Given the description of an element on the screen output the (x, y) to click on. 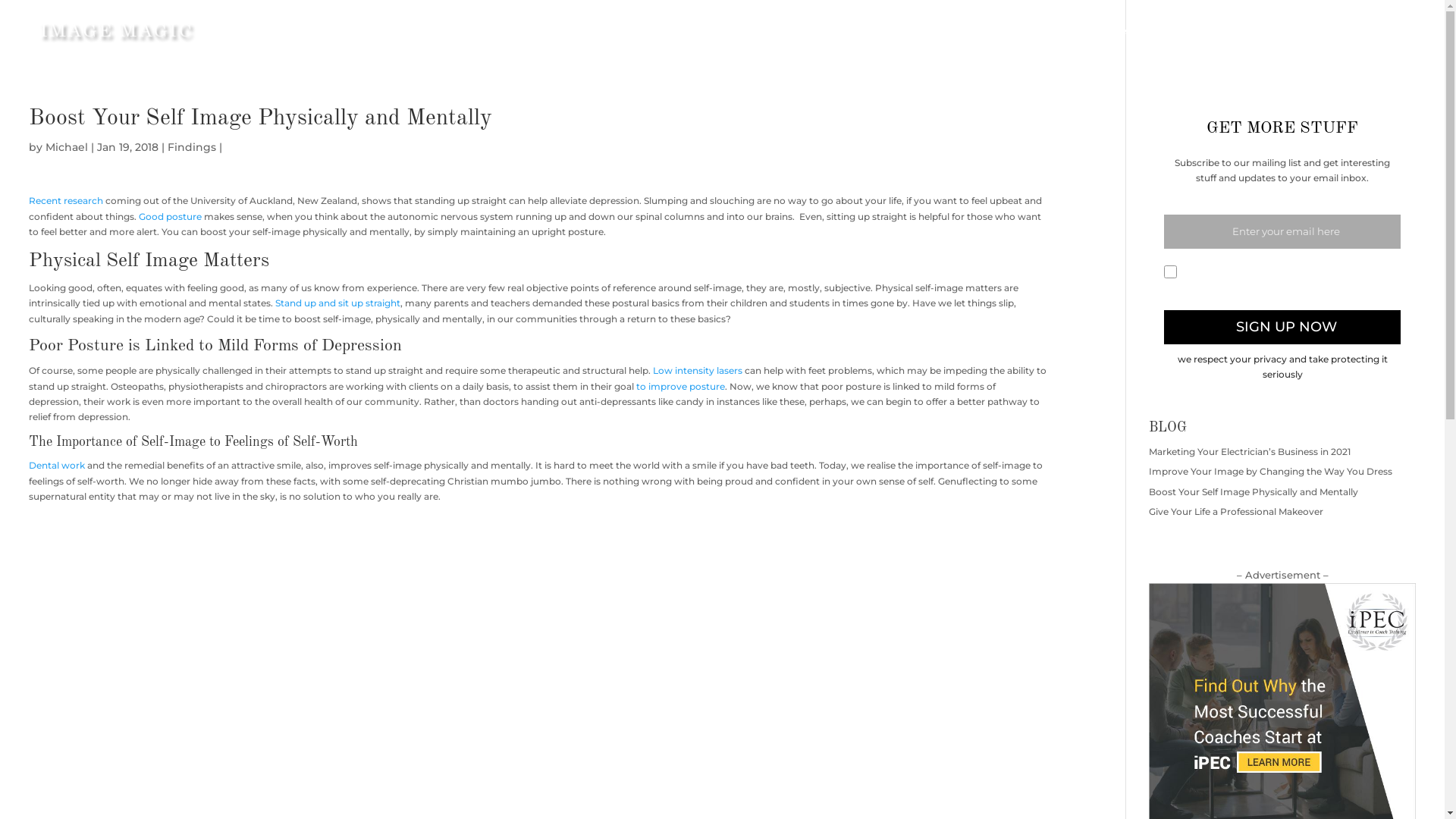
Home Element type: text (1030, 42)
Give Your Life a Professional Makeover Element type: text (1235, 511)
Sign Up Now Element type: text (1282, 327)
to improve posture Element type: text (680, 386)
Boost Your Self Image Physically and Mentally Element type: text (1253, 491)
Improve Your Image by Changing the Way You Dress Element type: text (1270, 470)
Dental work Element type: text (56, 464)
Training Element type: text (1296, 42)
Recent research Element type: text (65, 200)
Stand up and sit up straight Element type: text (337, 302)
Leadership Element type: text (1228, 42)
Michael Element type: text (66, 146)
Findings Element type: text (191, 146)
Good posture Element type: text (169, 216)
Low intensity lasers Element type: text (697, 370)
Programs Element type: text (1360, 42)
Personal Development Element type: text (1123, 42)
